Given the description of an element on the screen output the (x, y) to click on. 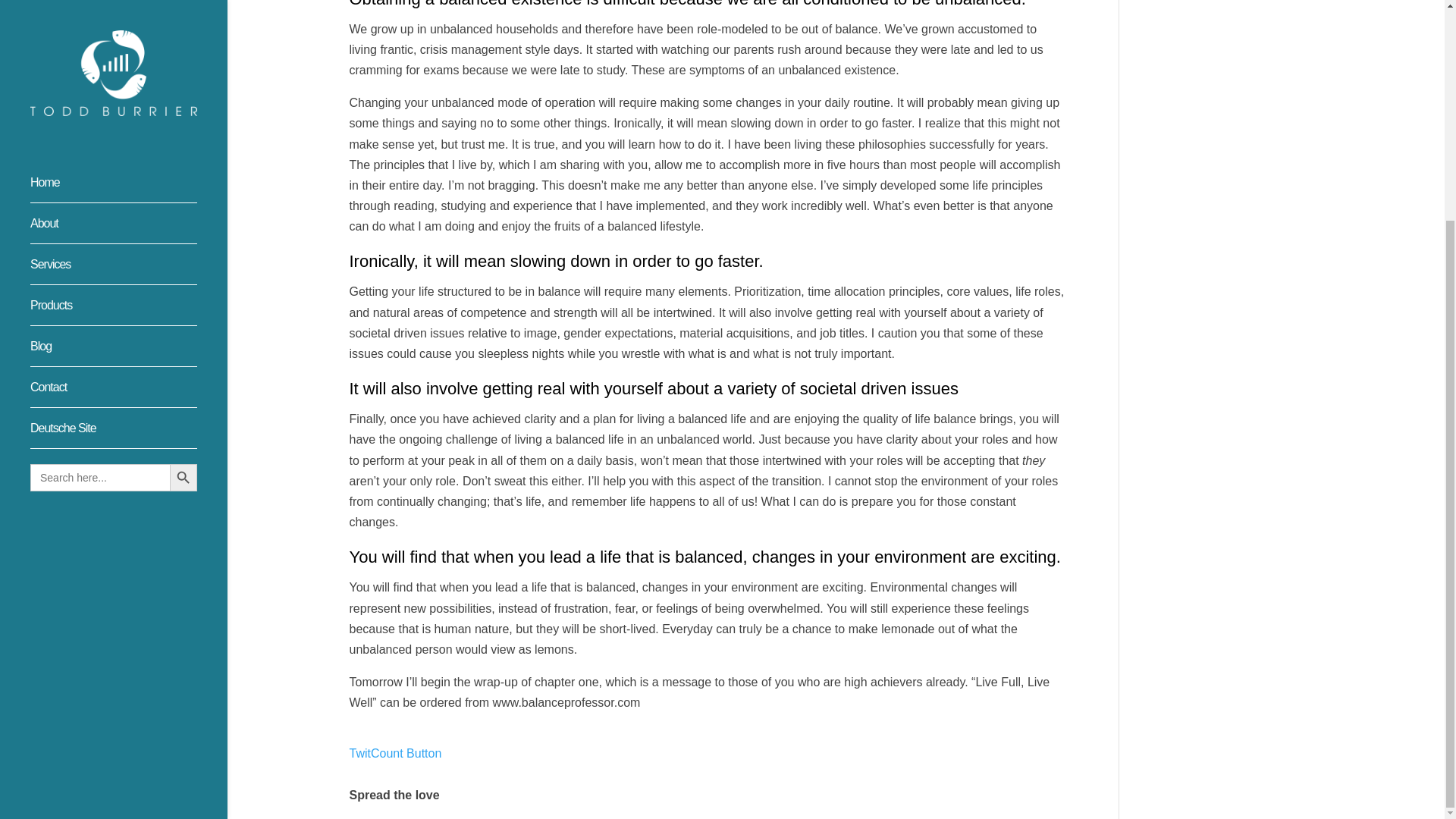
TwitCount Button (395, 753)
Deutsche Site (128, 142)
Products (128, 19)
Blog (128, 60)
Contact (128, 101)
Search Button (183, 185)
